Given the description of an element on the screen output the (x, y) to click on. 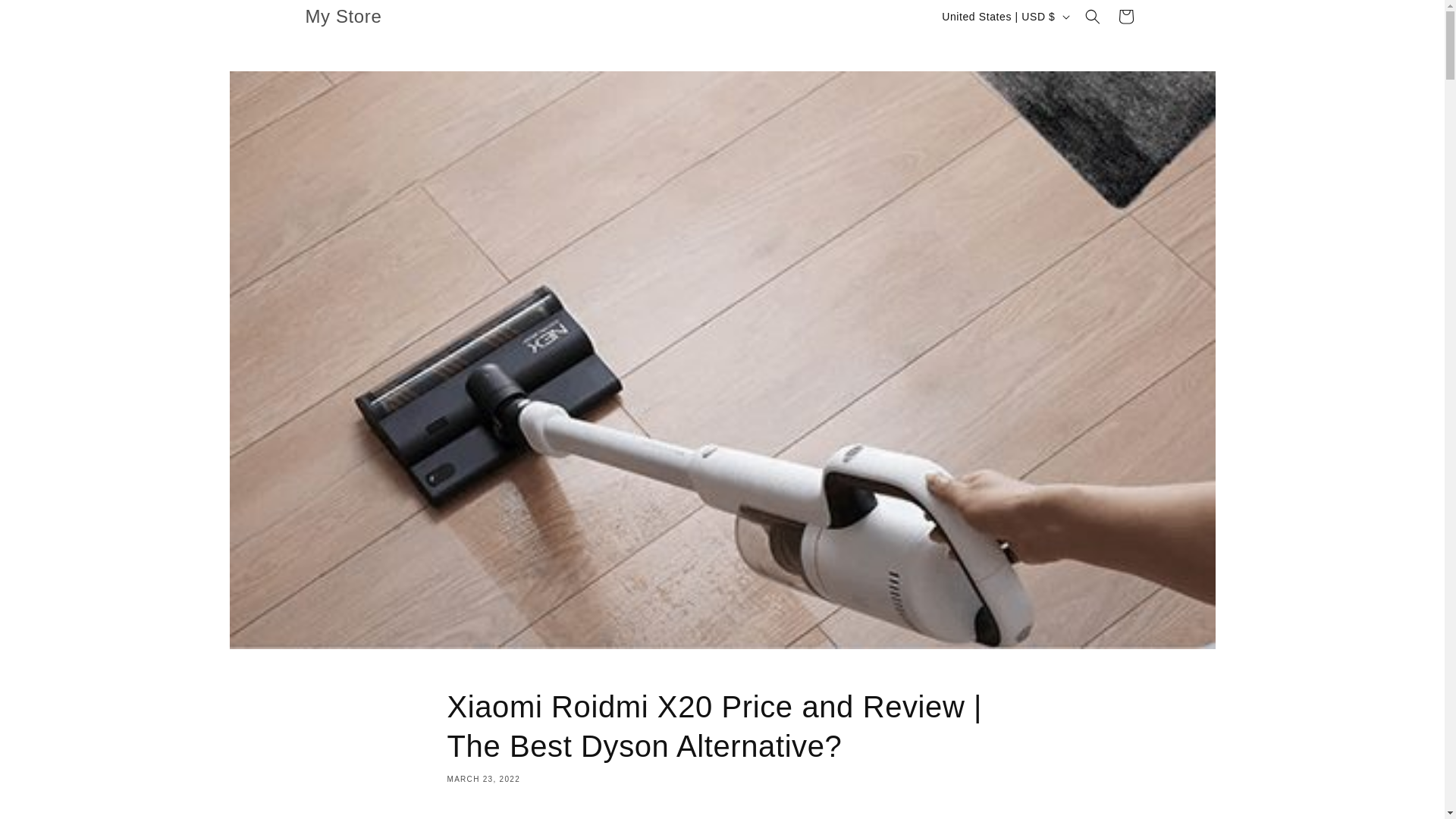
Skip to content (45, 17)
Cart (1124, 16)
My Store (343, 16)
